Given the description of an element on the screen output the (x, y) to click on. 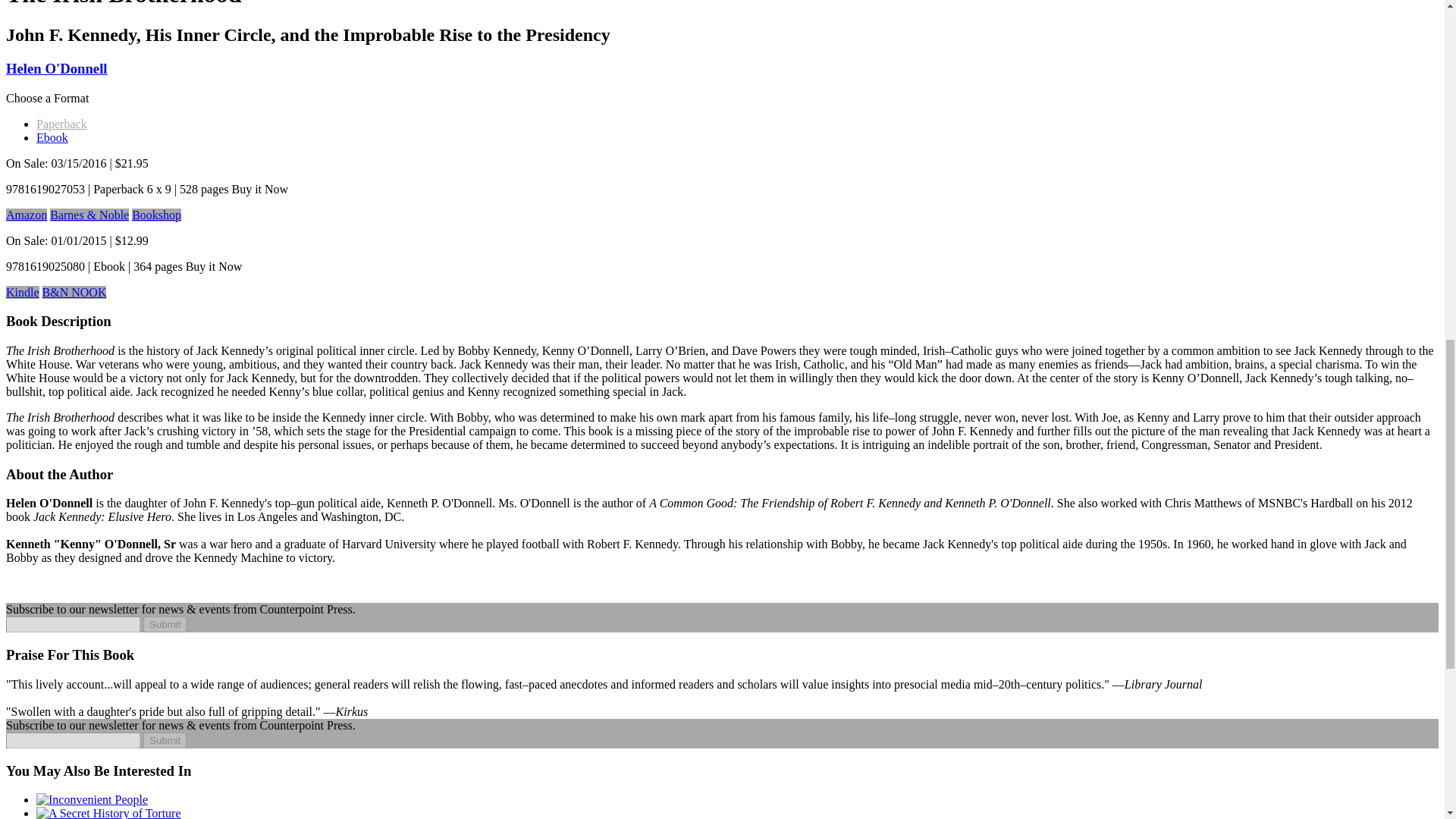
Kindle (22, 291)
Amazon (25, 214)
Submit (164, 624)
Ebook (52, 136)
Helen O'Donnell (56, 68)
Bookshop (156, 214)
Paperback (61, 123)
Submit (164, 740)
Submit (164, 740)
Submit (164, 624)
